Given the description of an element on the screen output the (x, y) to click on. 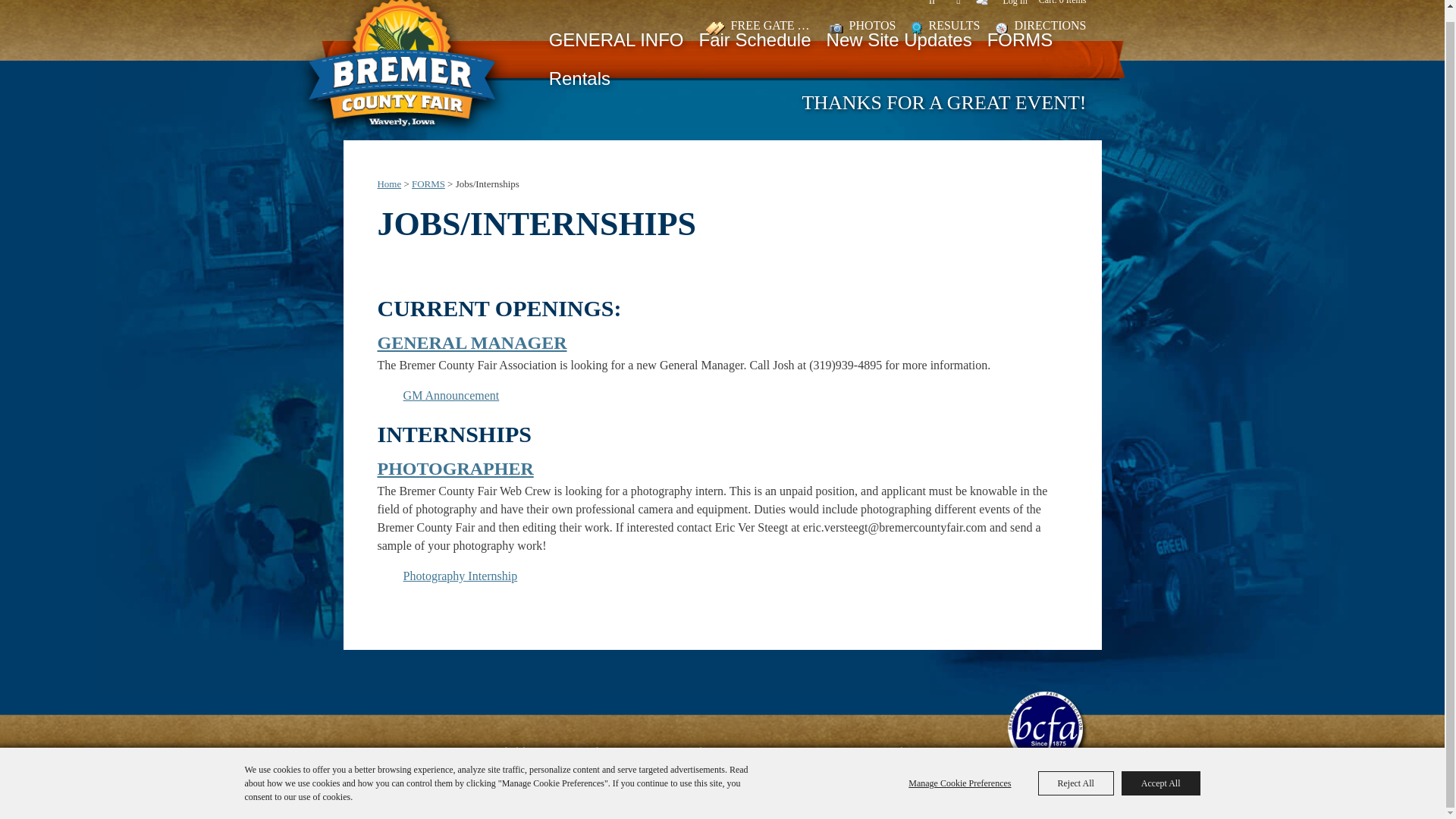
FREE GATE FAIR! (759, 27)
Fair Schedule (754, 41)
Get Updates (957, 5)
RESULTS (945, 27)
Log In (1014, 2)
Search (931, 5)
DIRECTIONS (1040, 27)
Cart (1062, 3)
PHOTOS (862, 27)
0 Items (1062, 3)
